Given the description of an element on the screen output the (x, y) to click on. 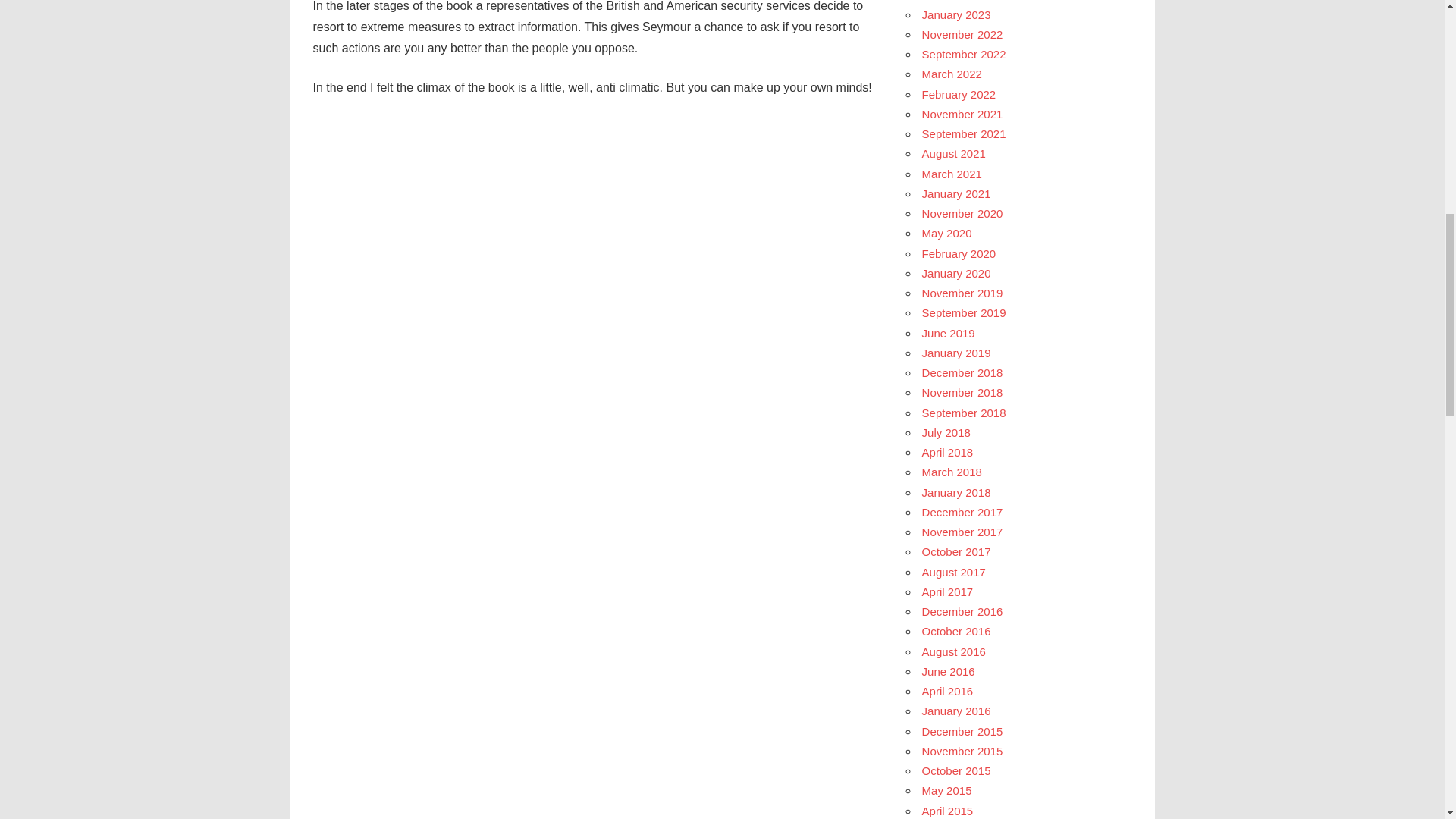
March 2021 (951, 173)
August 2021 (953, 153)
December 2018 (962, 372)
June 2019 (948, 332)
May 2020 (946, 232)
November 2020 (962, 213)
November 2018 (962, 391)
February 2022 (958, 93)
September 2018 (963, 412)
January 2019 (956, 352)
